Given the description of an element on the screen output the (x, y) to click on. 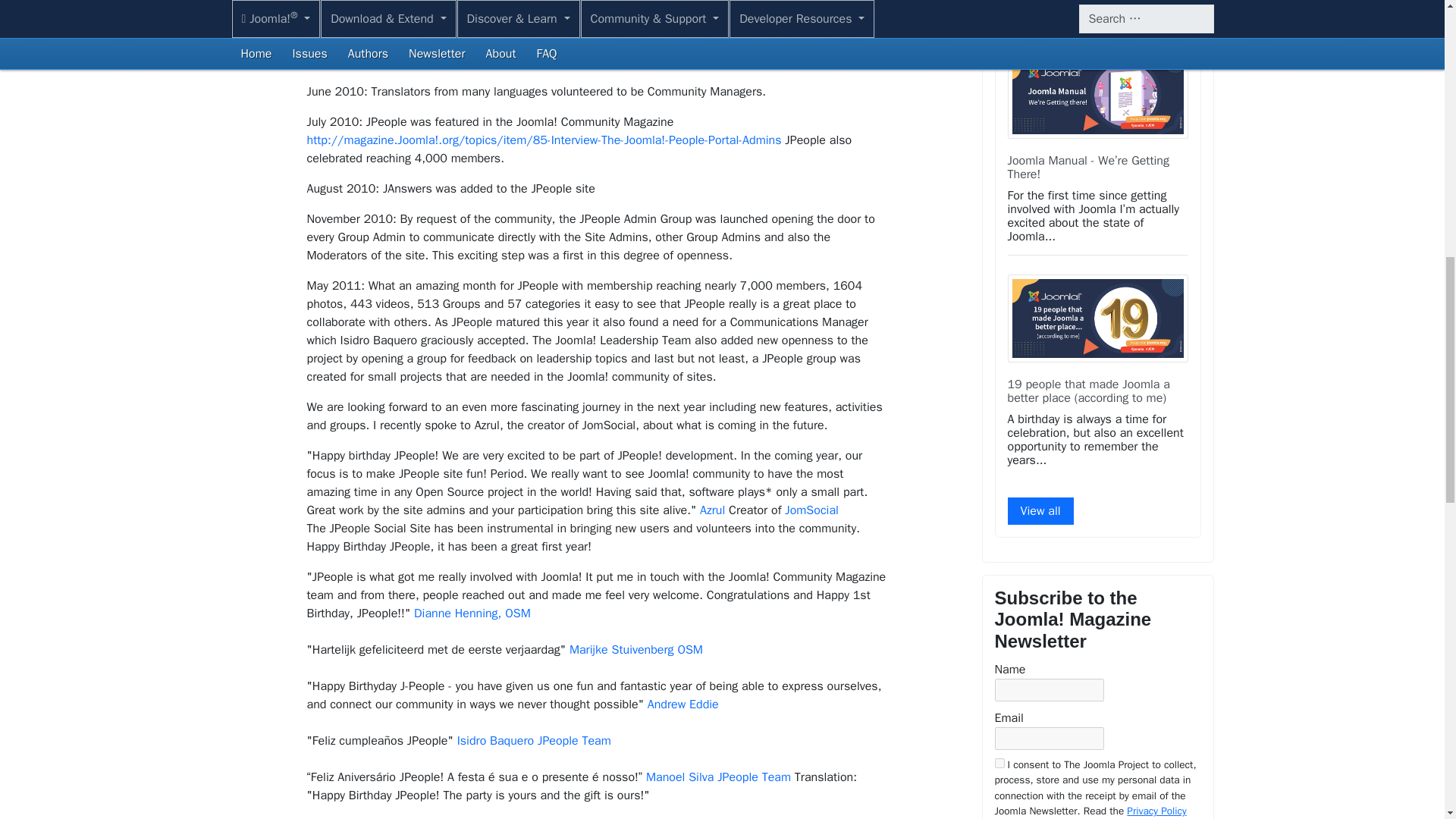
19-people (1097, 318)
on (999, 763)
JCM-Joomla-Manual-August (1097, 94)
